Given the description of an element on the screen output the (x, y) to click on. 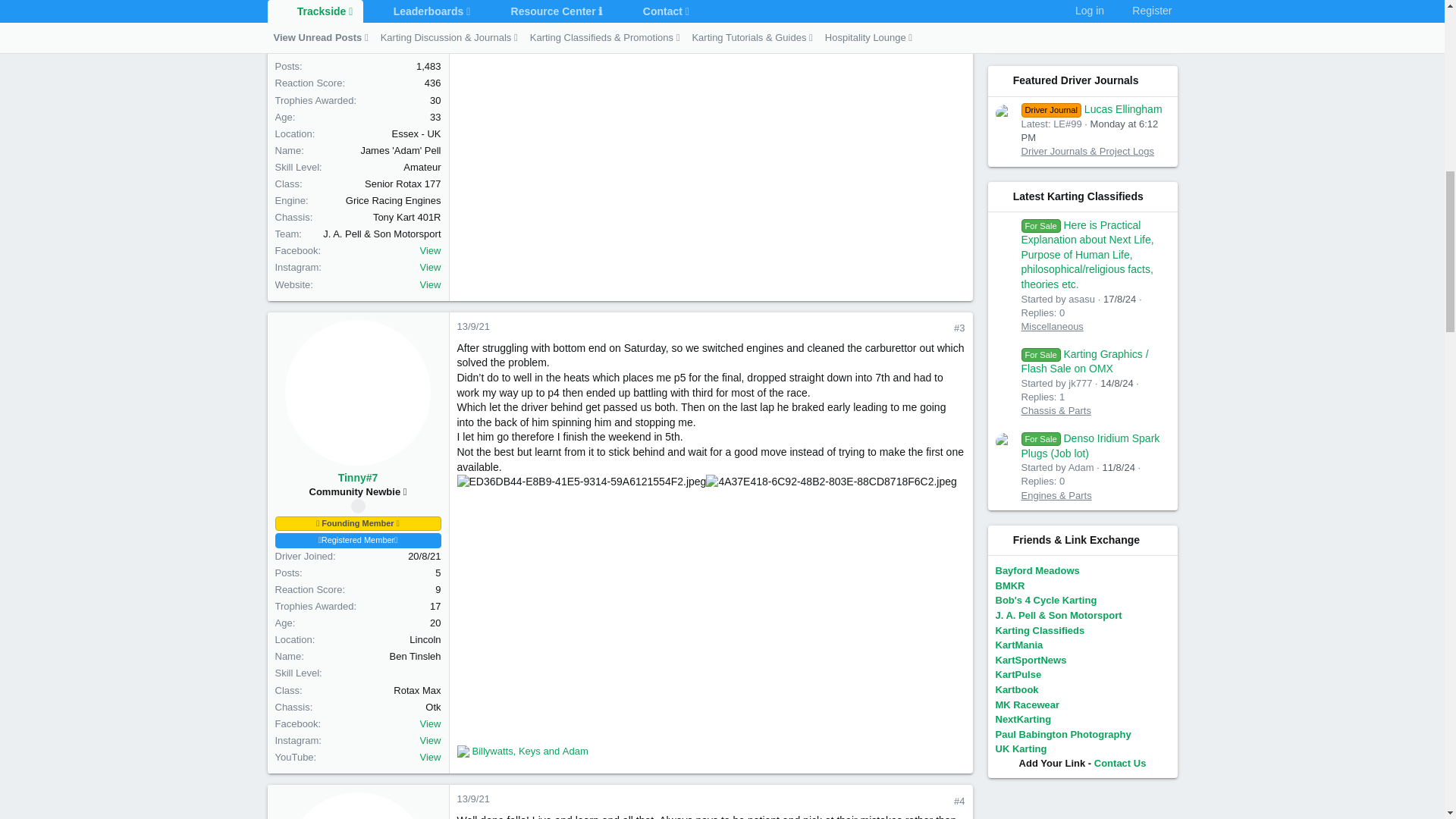
4A37E418-6C92-48B2-803E-88CD8718F6C2.jpeg (831, 482)
ED36DB44-E8B9-41E5-9314-59A6121554F2.jpeg (581, 482)
Original poster (357, 505)
Essex - UK (416, 134)
Lincoln (425, 639)
